Given the description of an element on the screen output the (x, y) to click on. 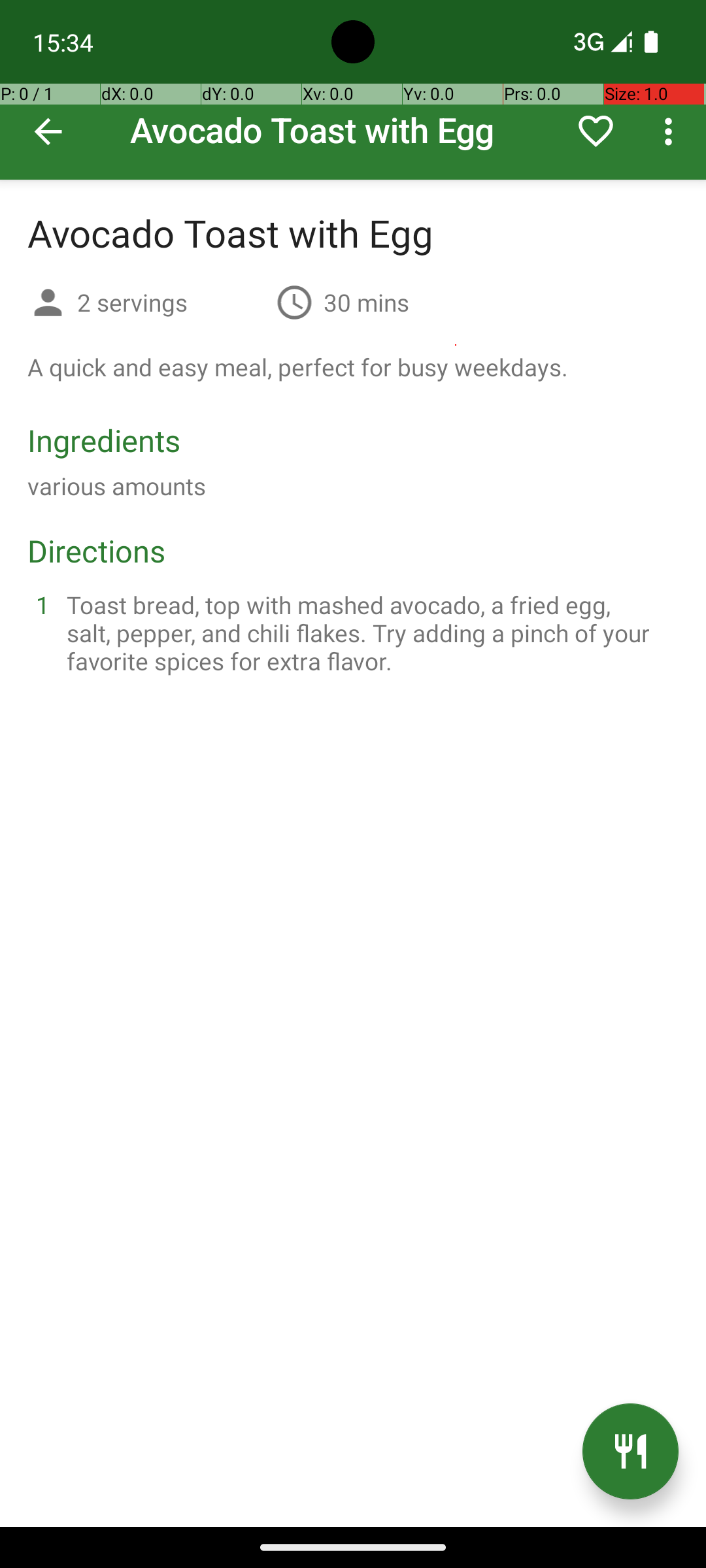
Toast bread, top with mashed avocado, a fried egg, salt, pepper, and chili flakes. Try adding a pinch of your favorite spices for extra flavor. Element type: android.widget.TextView (368, 632)
